Given the description of an element on the screen output the (x, y) to click on. 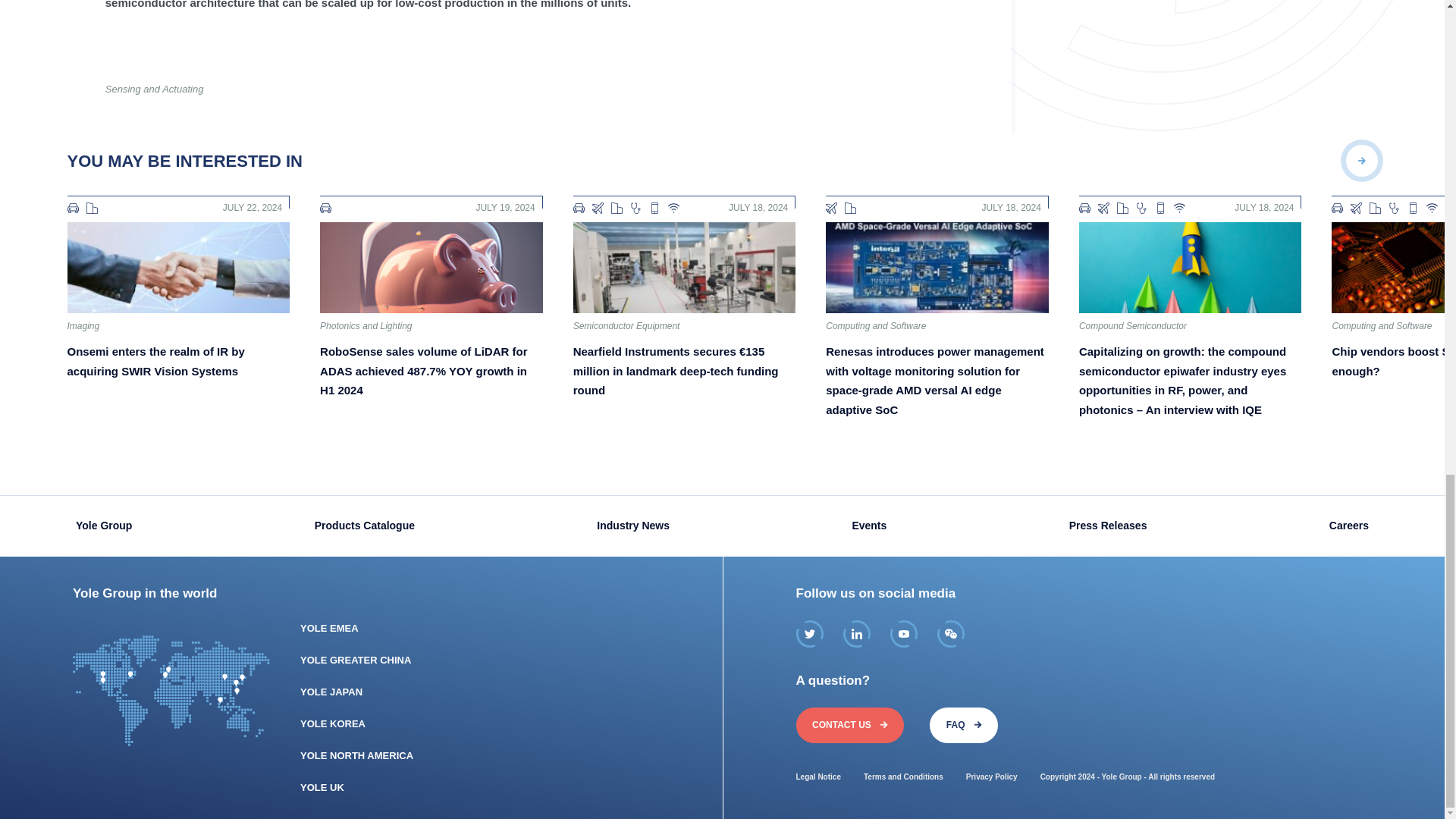
Follow us on youtube (903, 633)
Follow us on twitter (810, 633)
Follow us on linkedin (856, 633)
Follow us on wechat (950, 633)
